Given the description of an element on the screen output the (x, y) to click on. 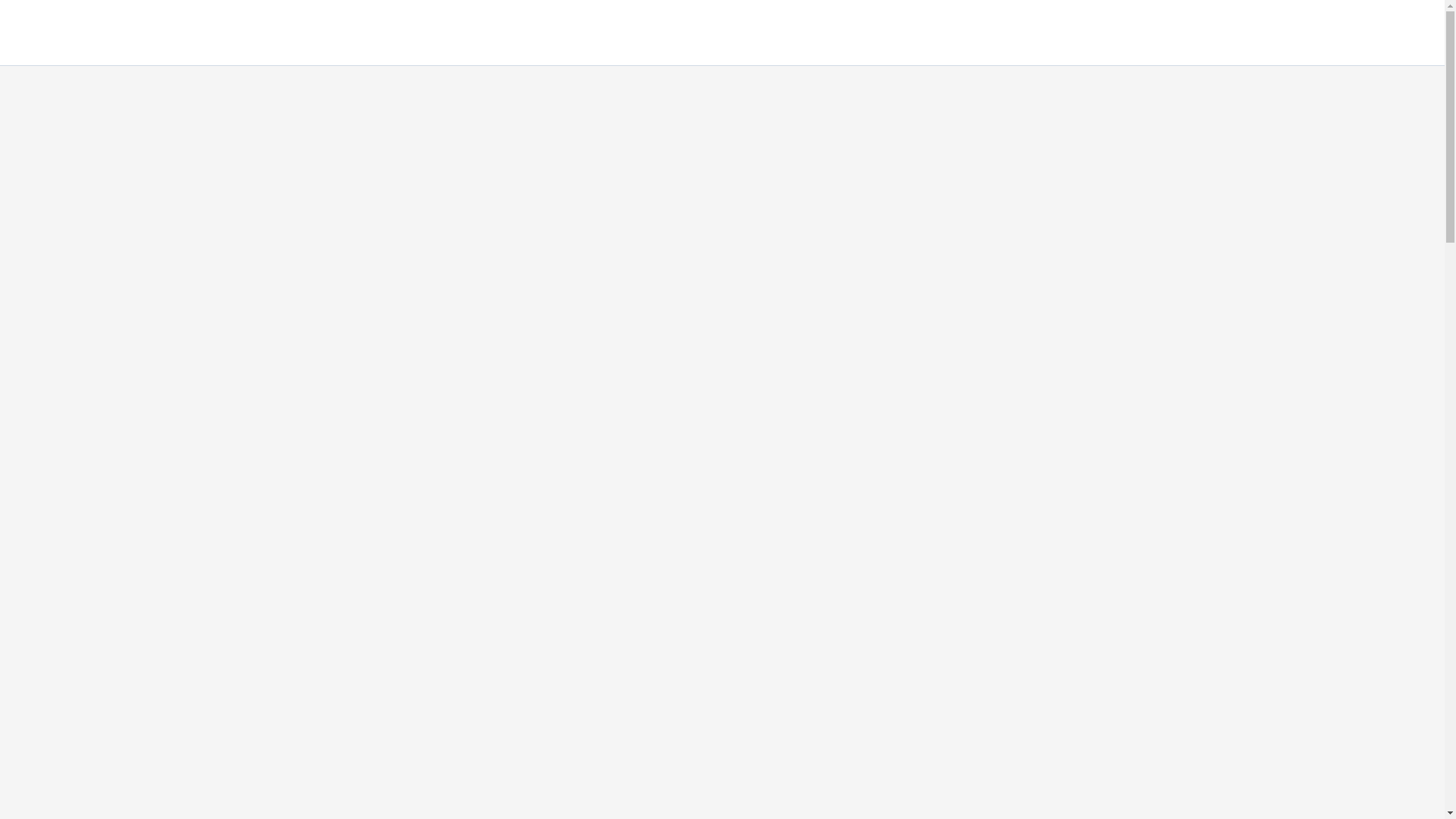
ORDER (976, 32)
CONTACT US (1377, 32)
CancelHow (67, 23)
MEMBERSHIP (1063, 32)
INSURANCE (1278, 32)
SERVICE (854, 32)
SUBSCRIPTION (1173, 32)
